Given the description of an element on the screen output the (x, y) to click on. 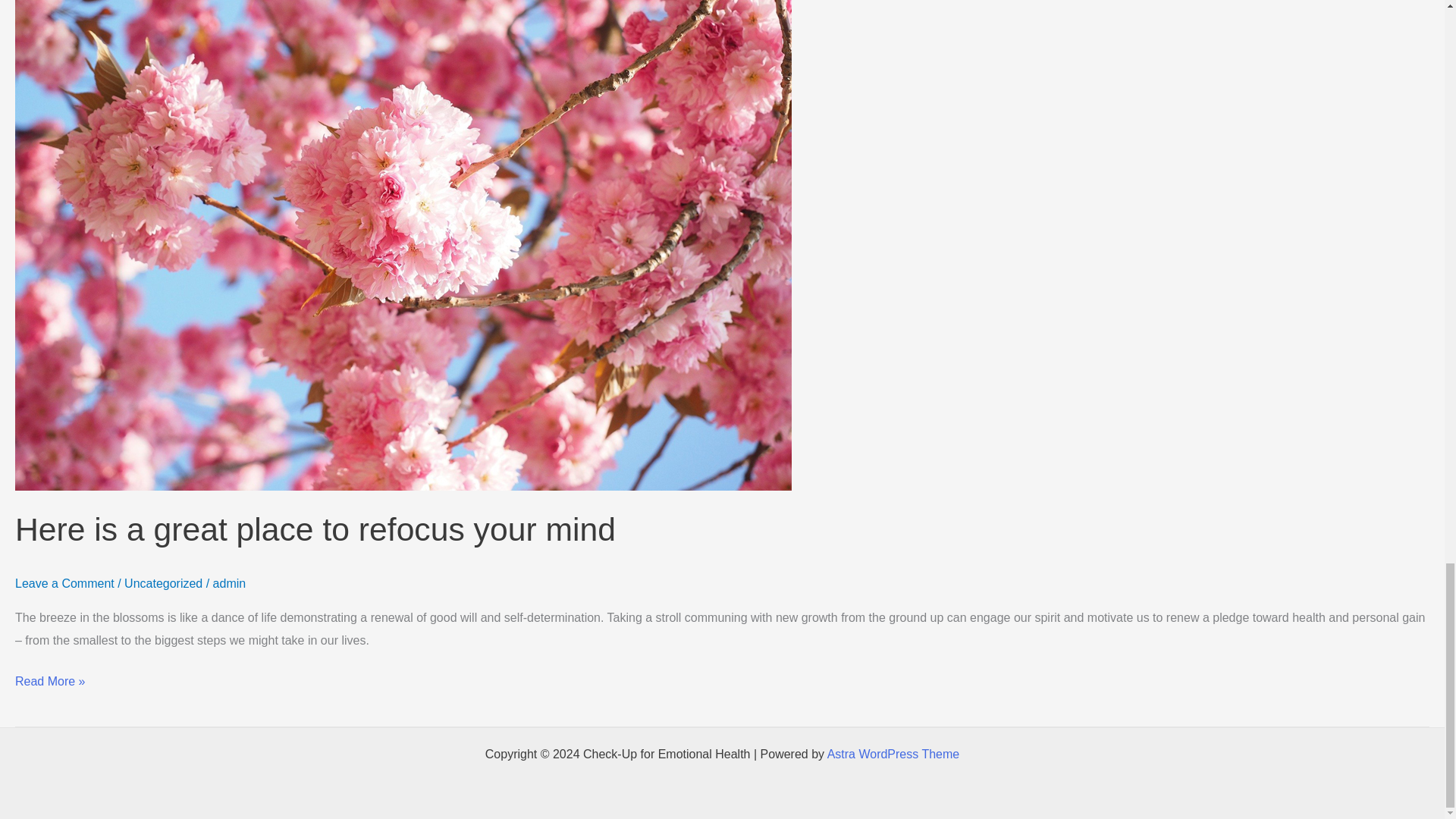
admin (229, 583)
Astra WordPress Theme (893, 753)
Leave a Comment (64, 583)
Uncategorized (162, 583)
Here is a great place to refocus your mind (314, 529)
View all posts by admin (229, 583)
